Given the description of an element on the screen output the (x, y) to click on. 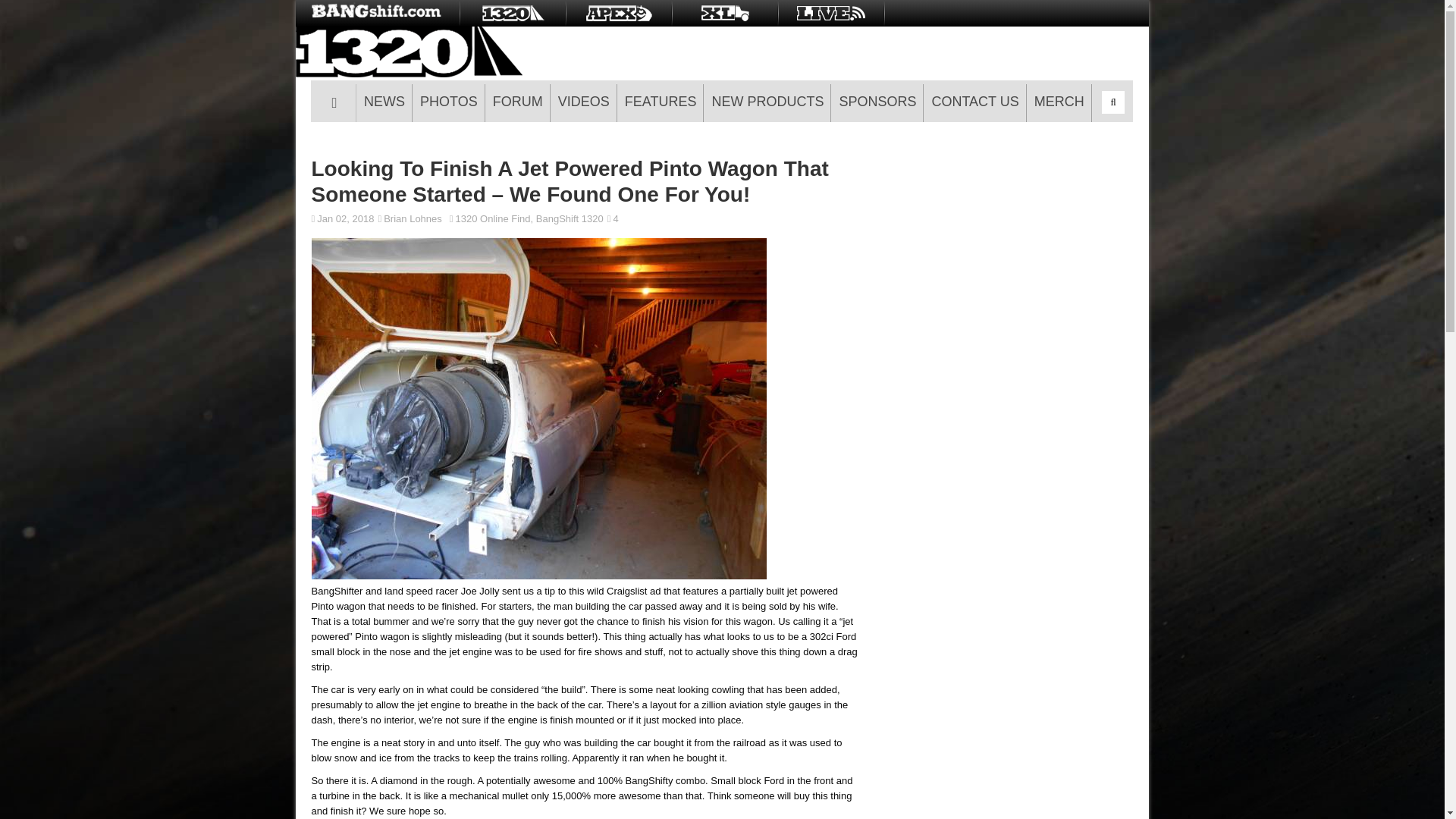
BangShift.com (377, 13)
BangShift1320 (512, 13)
NEWS (384, 103)
BangShiftAPEX (618, 13)
Posts by Brian Lohnes (413, 218)
BangShiftXL (724, 13)
PHOTOS (448, 103)
LIVE (831, 13)
